Given the description of an element on the screen output the (x, y) to click on. 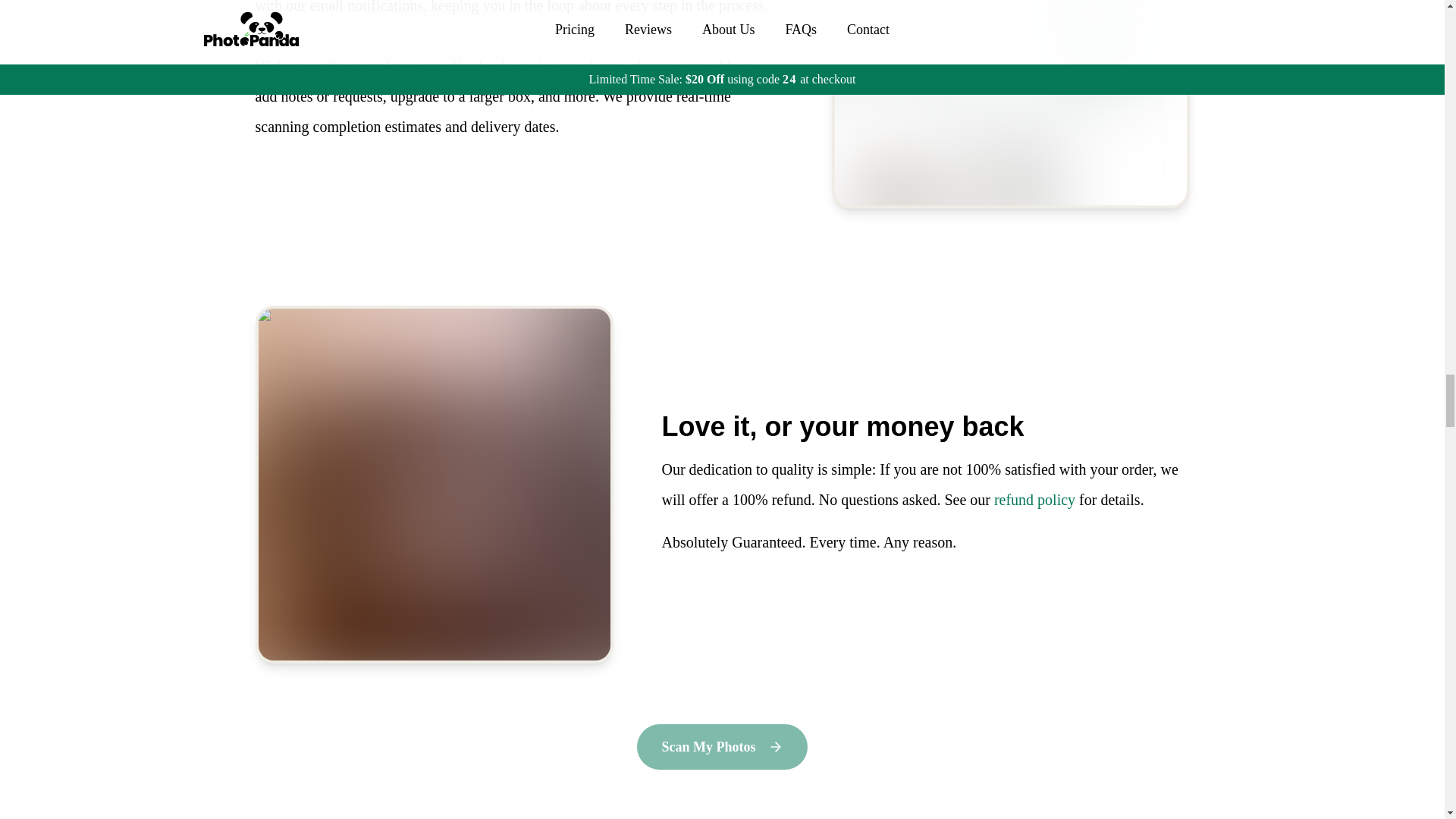
Scan My Photos (721, 746)
refund policy (1034, 499)
